Given the description of an element on the screen output the (x, y) to click on. 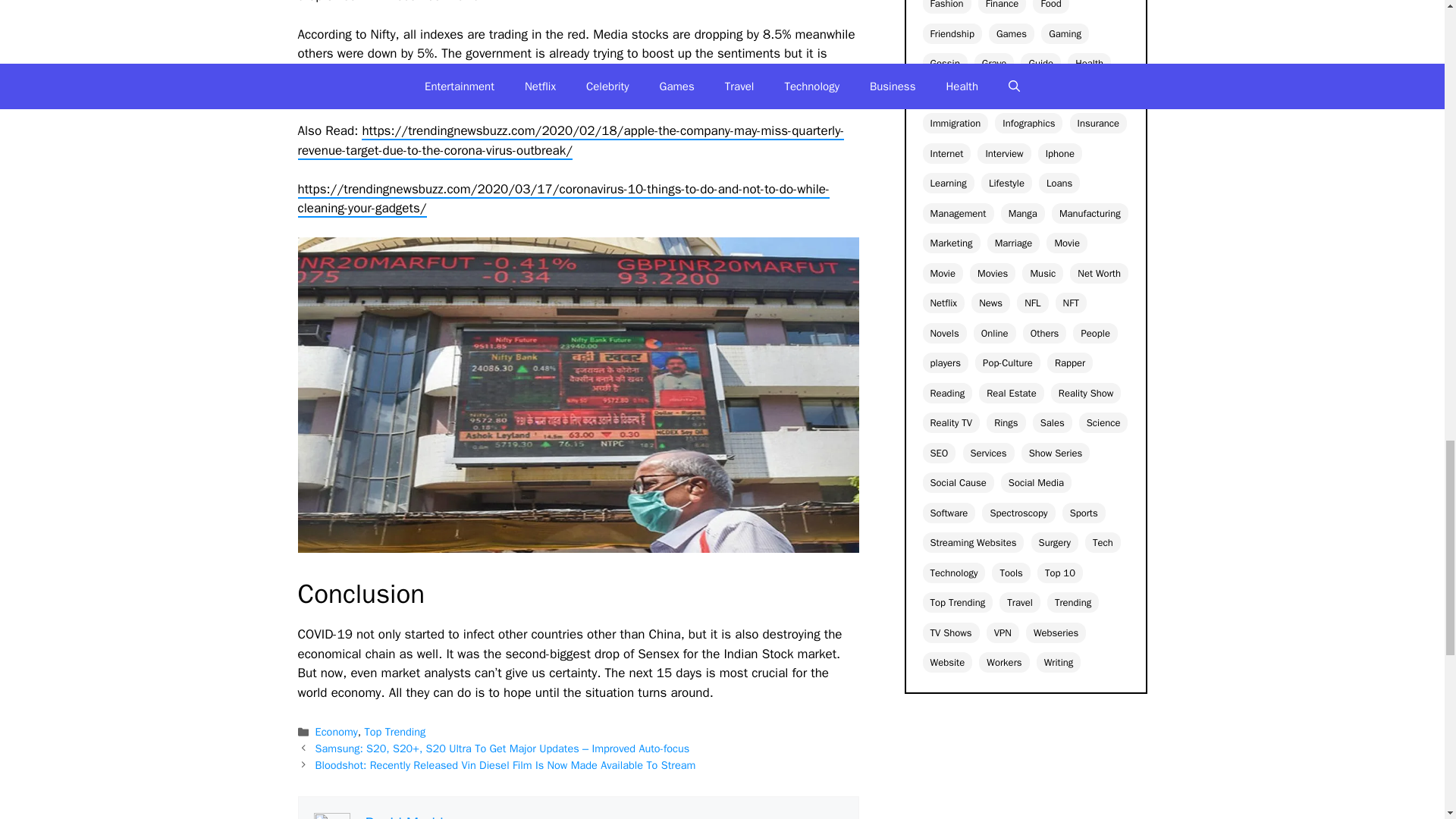
Economy (336, 731)
Top Trending (395, 731)
David Mudd (404, 816)
